Given the description of an element on the screen output the (x, y) to click on. 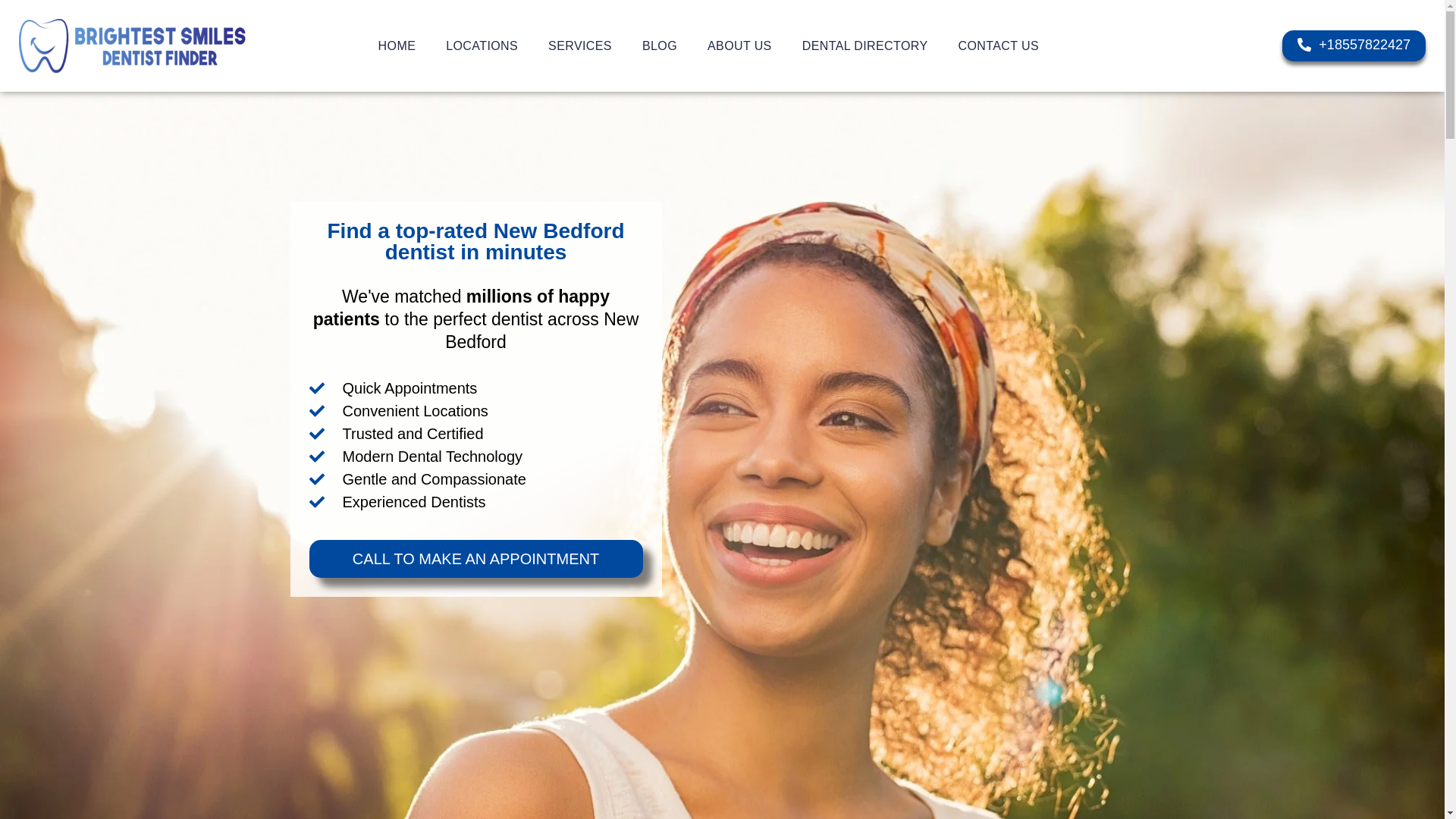
HOME (396, 45)
DENTAL DIRECTORY (865, 45)
SERVICES (579, 45)
ABOUT US (740, 45)
LOCATIONS (481, 45)
CONTACT US (998, 45)
BLOG (660, 45)
